Given the description of an element on the screen output the (x, y) to click on. 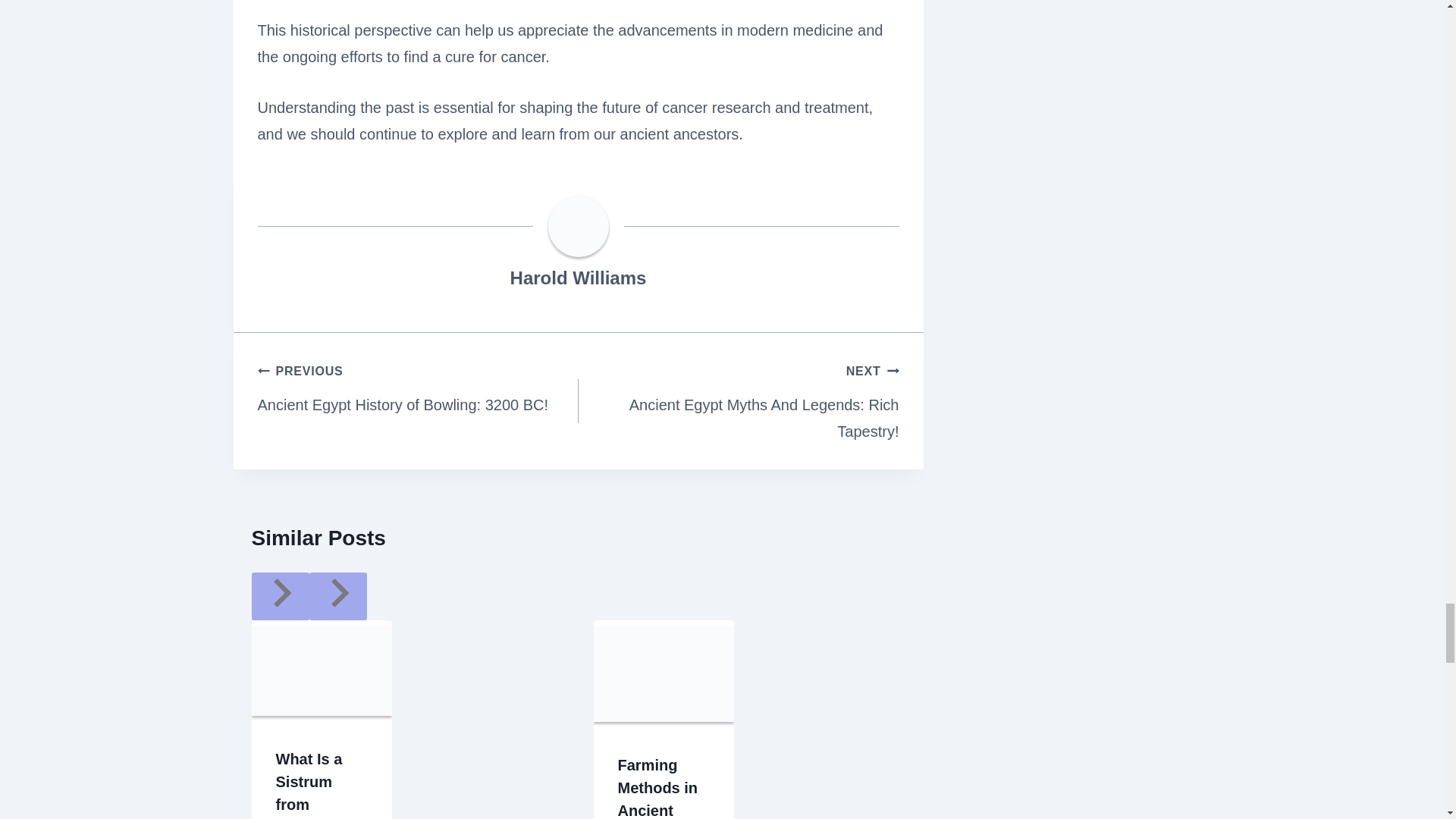
Harold Williams (417, 387)
Posts by Harold Williams (578, 277)
